Given the description of an element on the screen output the (x, y) to click on. 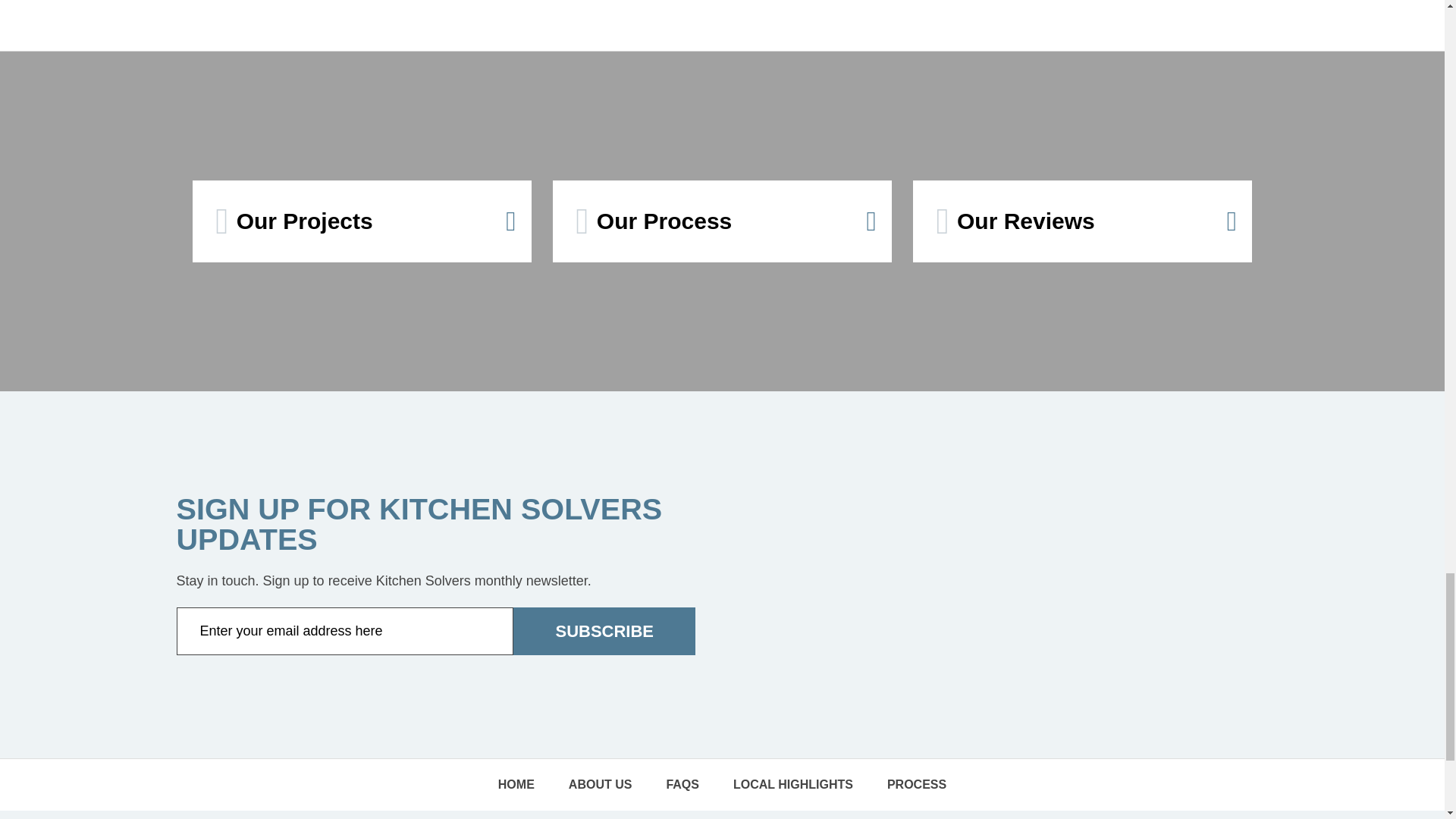
Subscribe (604, 631)
PROCESS (916, 784)
Our Projects (361, 221)
ABOUT US (600, 784)
Our Reviews (1081, 221)
HOME (516, 784)
Our Process (722, 221)
FAQS (682, 784)
Subscribe (604, 631)
LOCAL HIGHLIGHTS (792, 784)
